Given the description of an element on the screen output the (x, y) to click on. 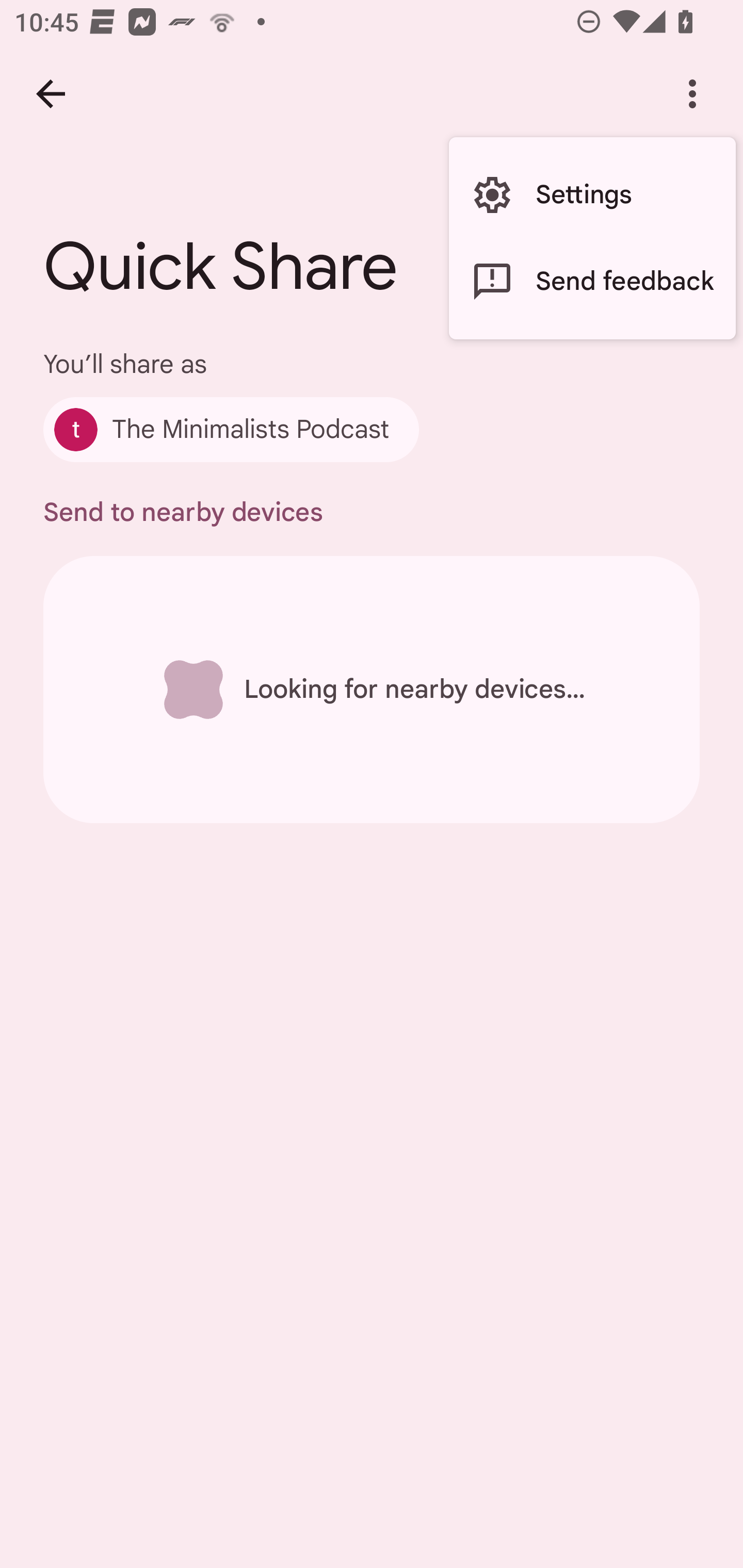
Settings (591, 195)
Send feedback (591, 281)
